Given the description of an element on the screen output the (x, y) to click on. 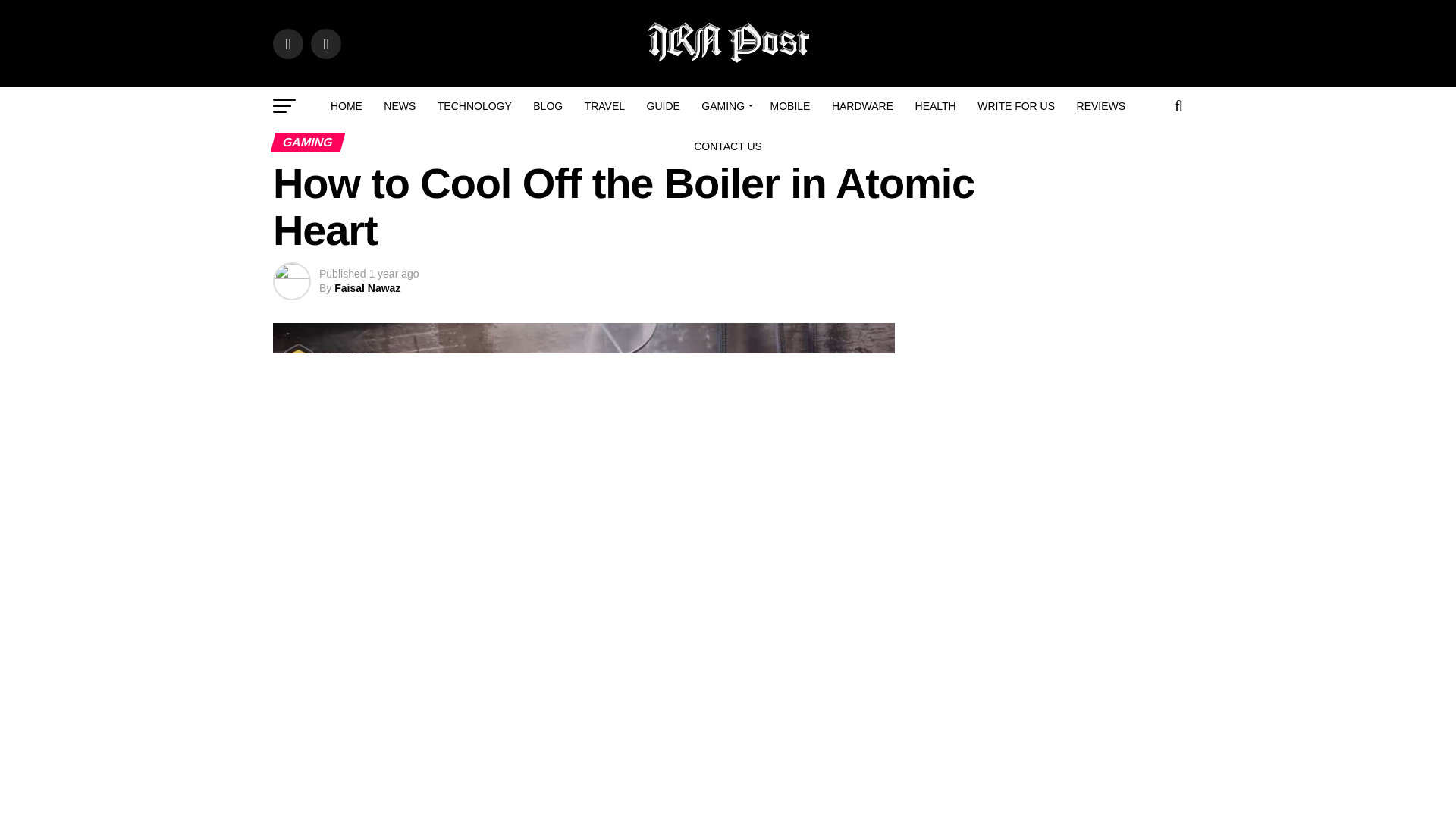
GUIDE (662, 105)
BLOG (548, 105)
HOME (346, 105)
TRAVEL (604, 105)
GAMING (725, 105)
Posts by Faisal Nawaz (367, 287)
TECHNOLOGY (474, 105)
NEWS (399, 105)
